Given the description of an element on the screen output the (x, y) to click on. 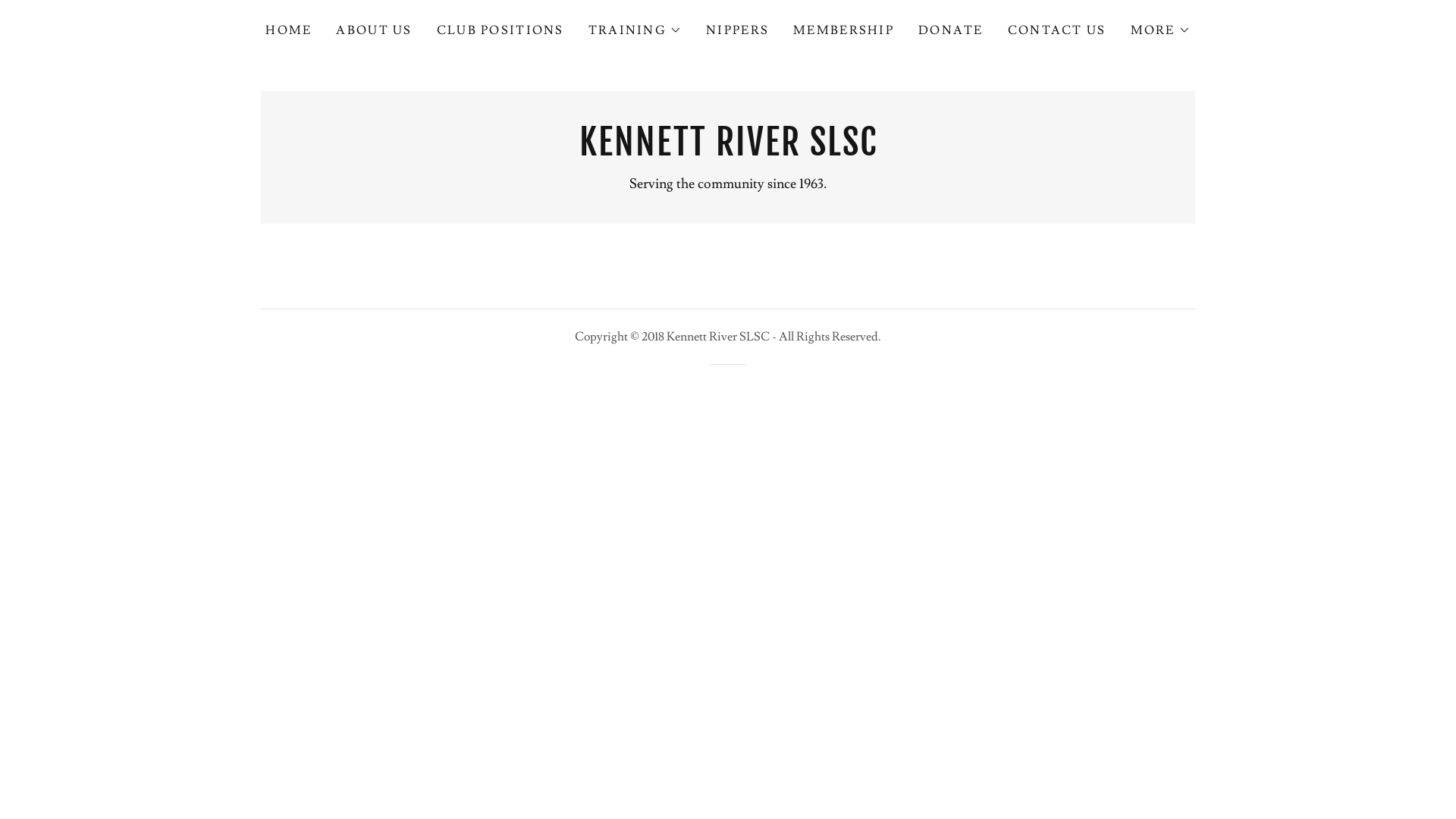
MORE Element type: text (1160, 30)
ABOUT US Element type: text (373, 29)
CONTACT US Element type: text (1056, 29)
DONATE Element type: text (950, 29)
CLUB POSITIONS Element type: text (500, 29)
TRAINING Element type: text (634, 30)
MEMBERSHIP Element type: text (843, 29)
NIPPERS Element type: text (737, 29)
HOME Element type: text (288, 29)
KENNETT RIVER SLSC Element type: text (727, 151)
